Given the description of an element on the screen output the (x, y) to click on. 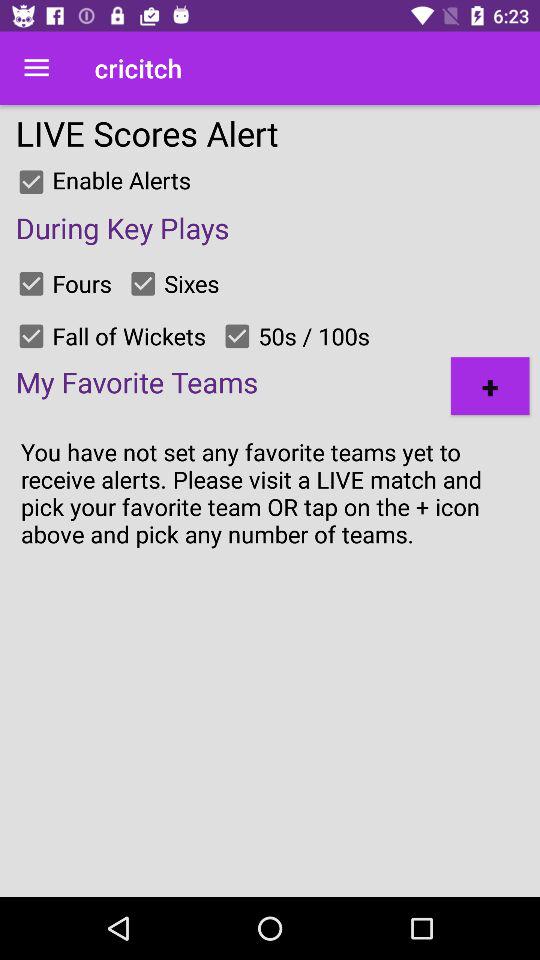
turn off the + item (489, 386)
